Given the description of an element on the screen output the (x, y) to click on. 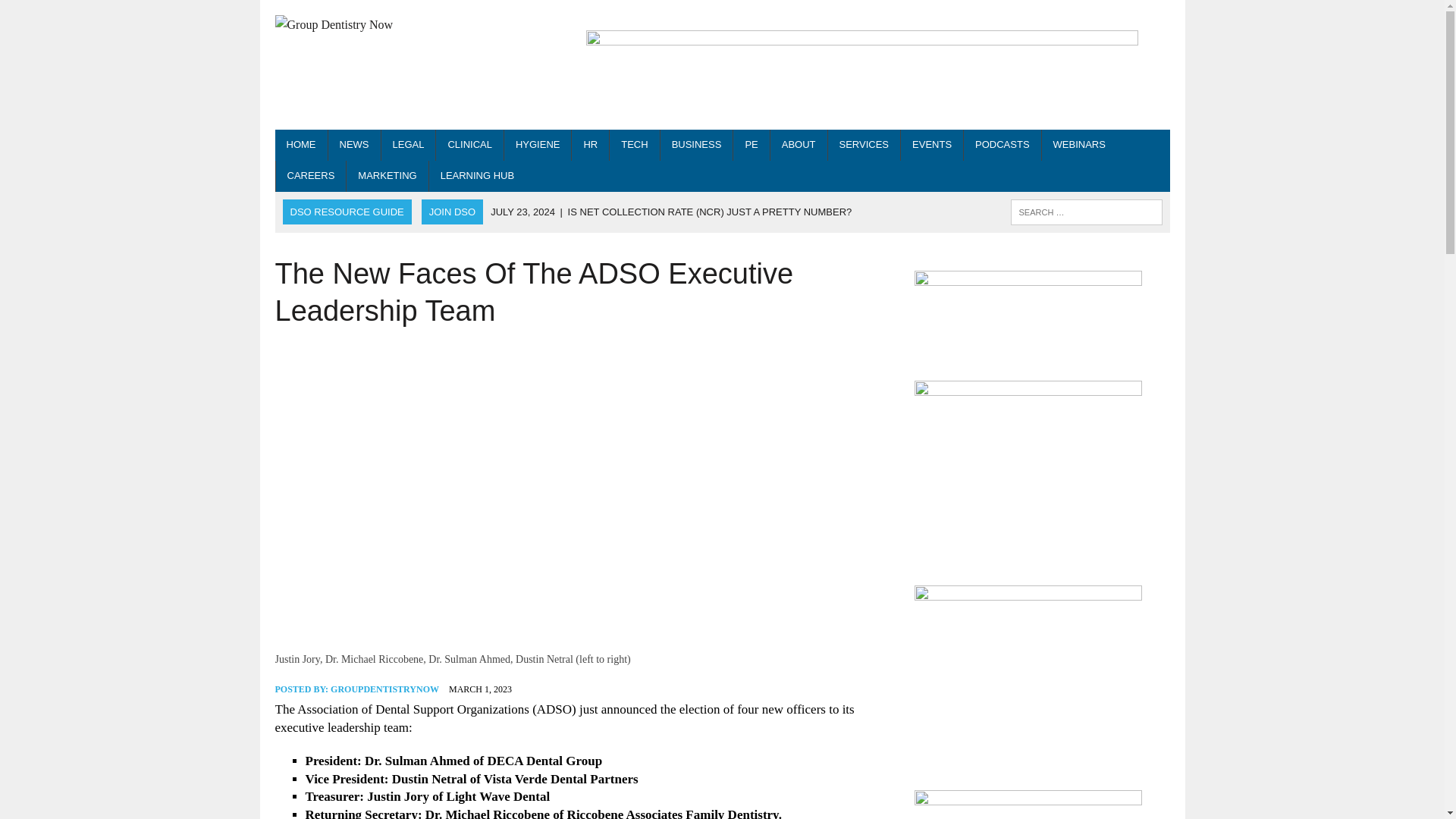
PODCASTS (1002, 144)
ABOUT (798, 144)
Consulting, Funding, Aquistion, Education for the DSO space (864, 144)
HYGIENE (537, 144)
NEWS (353, 144)
EVENTS (931, 144)
WEBINARS (1079, 144)
PE (750, 144)
HR (590, 144)
CLINICAL (469, 144)
HOME (300, 144)
TECH (634, 144)
Group Dentistry Now (416, 25)
LEGAL (407, 144)
BUSINESS (697, 144)
